Given the description of an element on the screen output the (x, y) to click on. 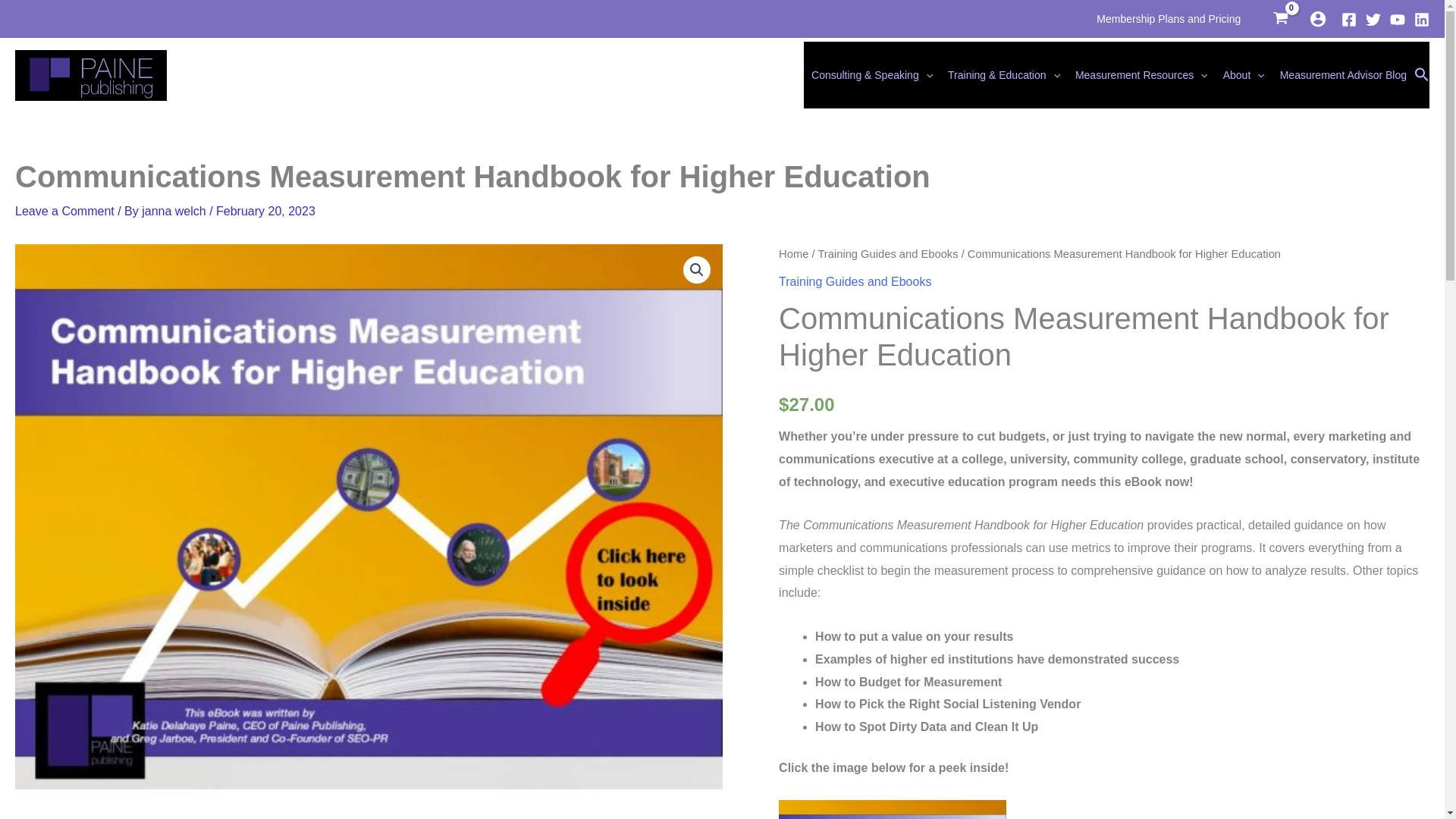
View all posts by janna welch (175, 210)
Measurement Resources (1141, 74)
Measurement Advisor Blog (1342, 74)
Membership Plans and Pricing (1168, 18)
